Given the description of an element on the screen output the (x, y) to click on. 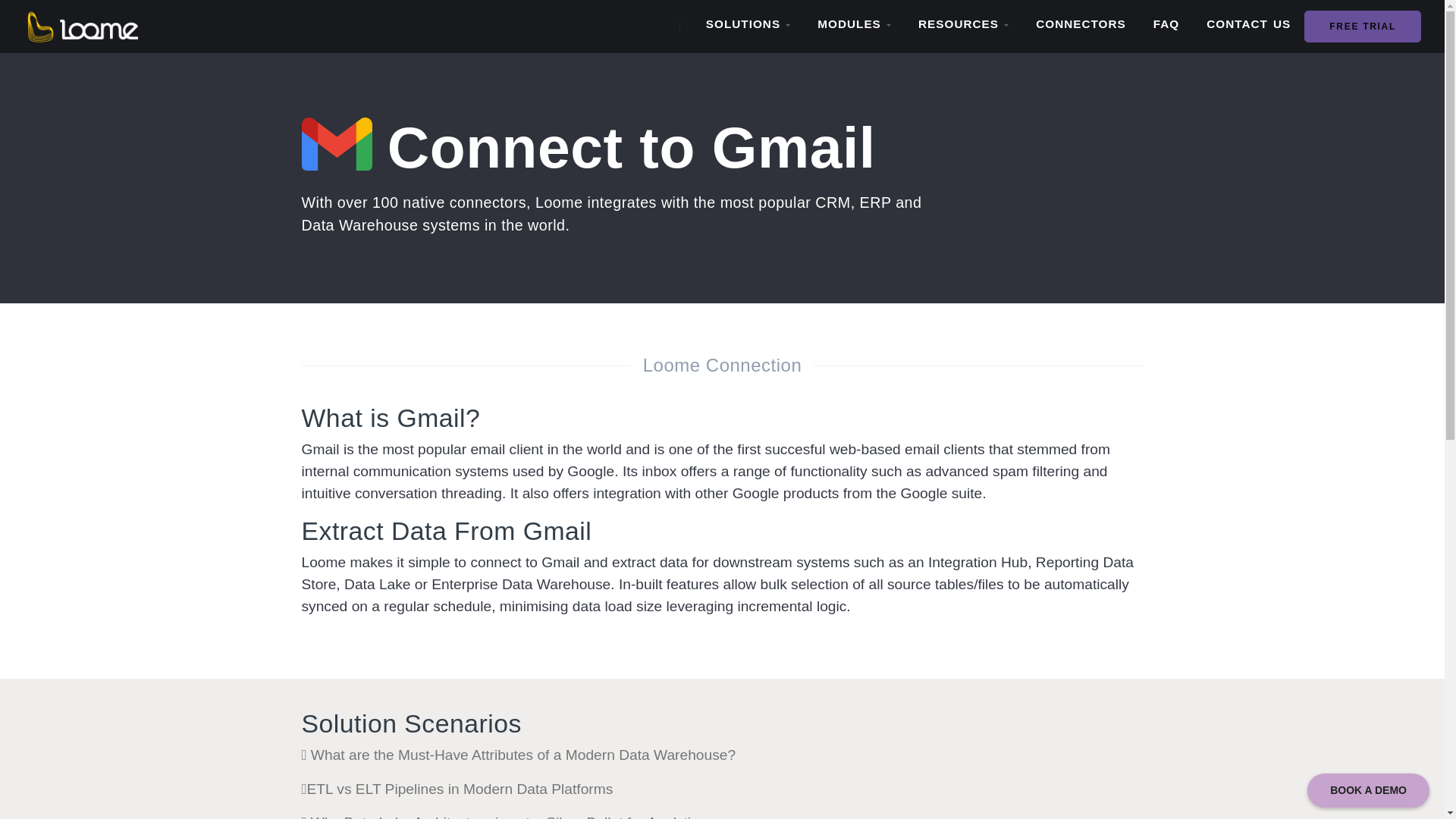
FREE TRIAL (1362, 25)
CONNECTORS (1081, 23)
RESOURCES (963, 23)
SOLUTIONS (748, 23)
CONTACT US (1248, 23)
MODULES (853, 23)
FAQ (1166, 23)
ETL vs ELT Pipelines in Modern Data Platforms (456, 788)
